Given the description of an element on the screen output the (x, y) to click on. 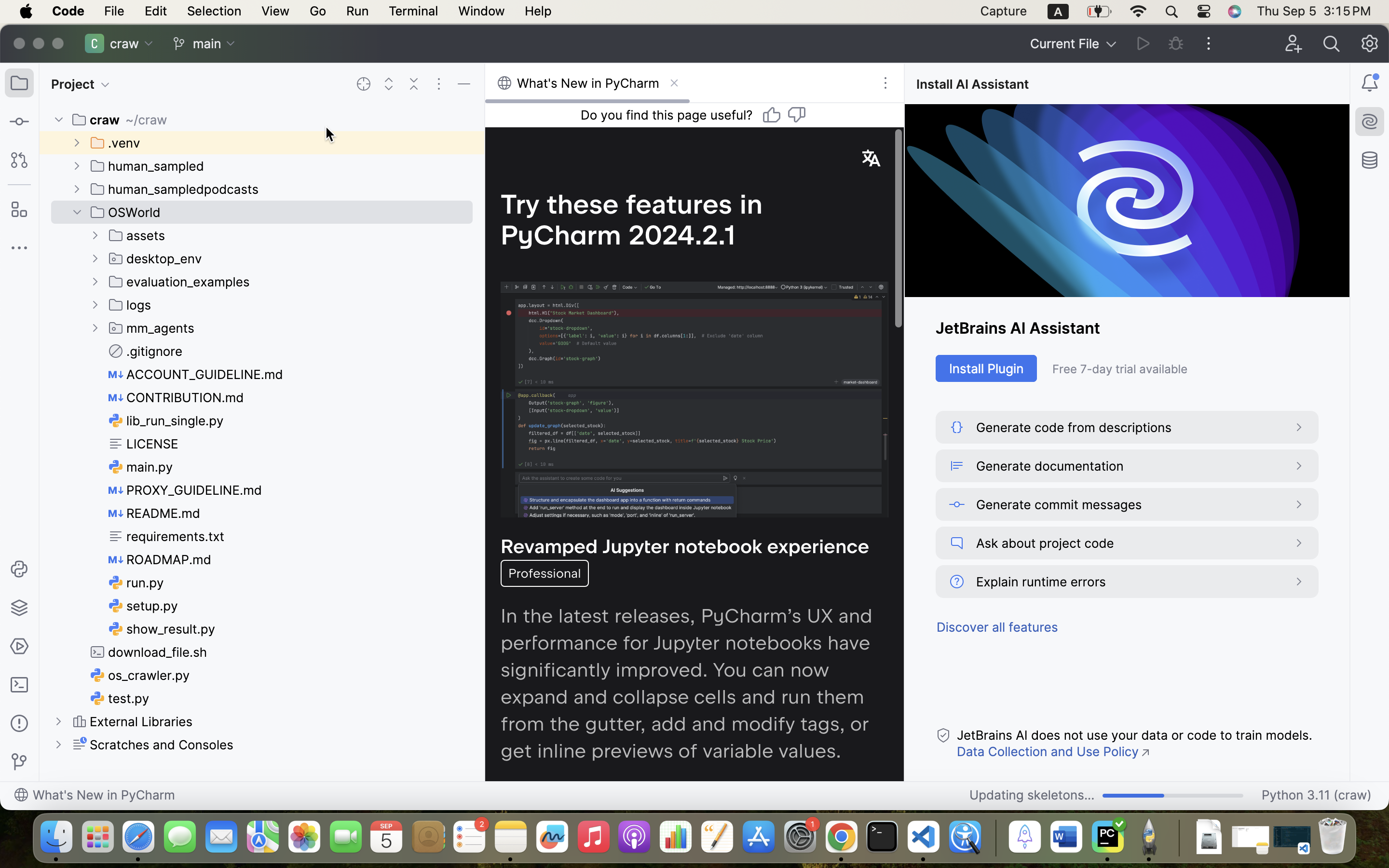
lib_run_single.py Element type: AXStaticText (166, 420)
requirements.txt Element type: AXStaticText (166, 535)
JetBrains AI Assistant Element type: AXTextField (1126, 327)
OSWorld Element type: AXStaticText (125, 211)
ACCOUNT_GUIDELINE.md Element type: AXStaticText (196, 373)
